Given the description of an element on the screen output the (x, y) to click on. 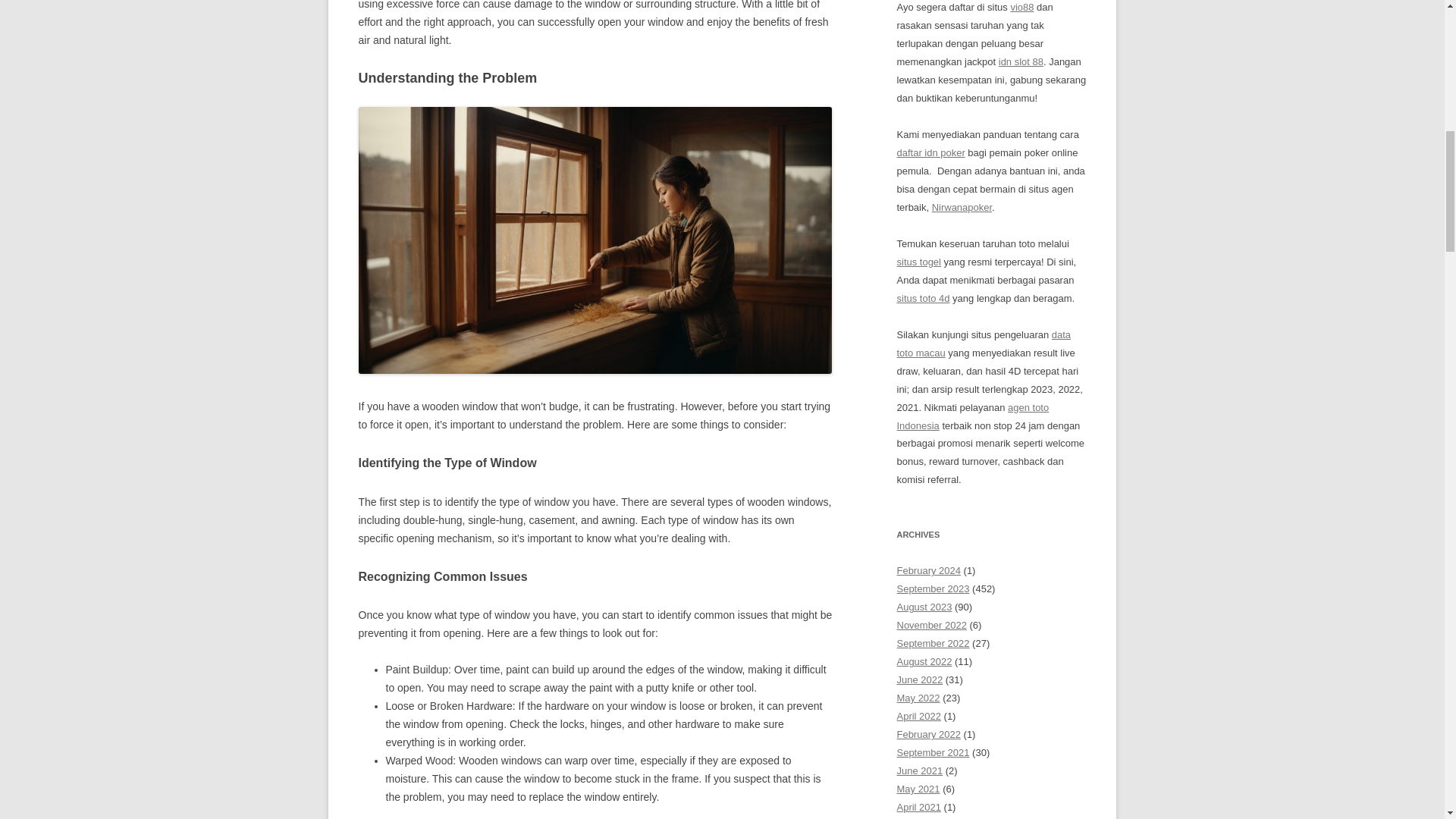
data toto macau (983, 343)
situs toto 4d (922, 297)
situs togel (918, 261)
daftar idn poker (929, 152)
Nirwanapoker (961, 206)
idn slot 88 (1020, 61)
vio88 (1021, 7)
